Given the description of an element on the screen output the (x, y) to click on. 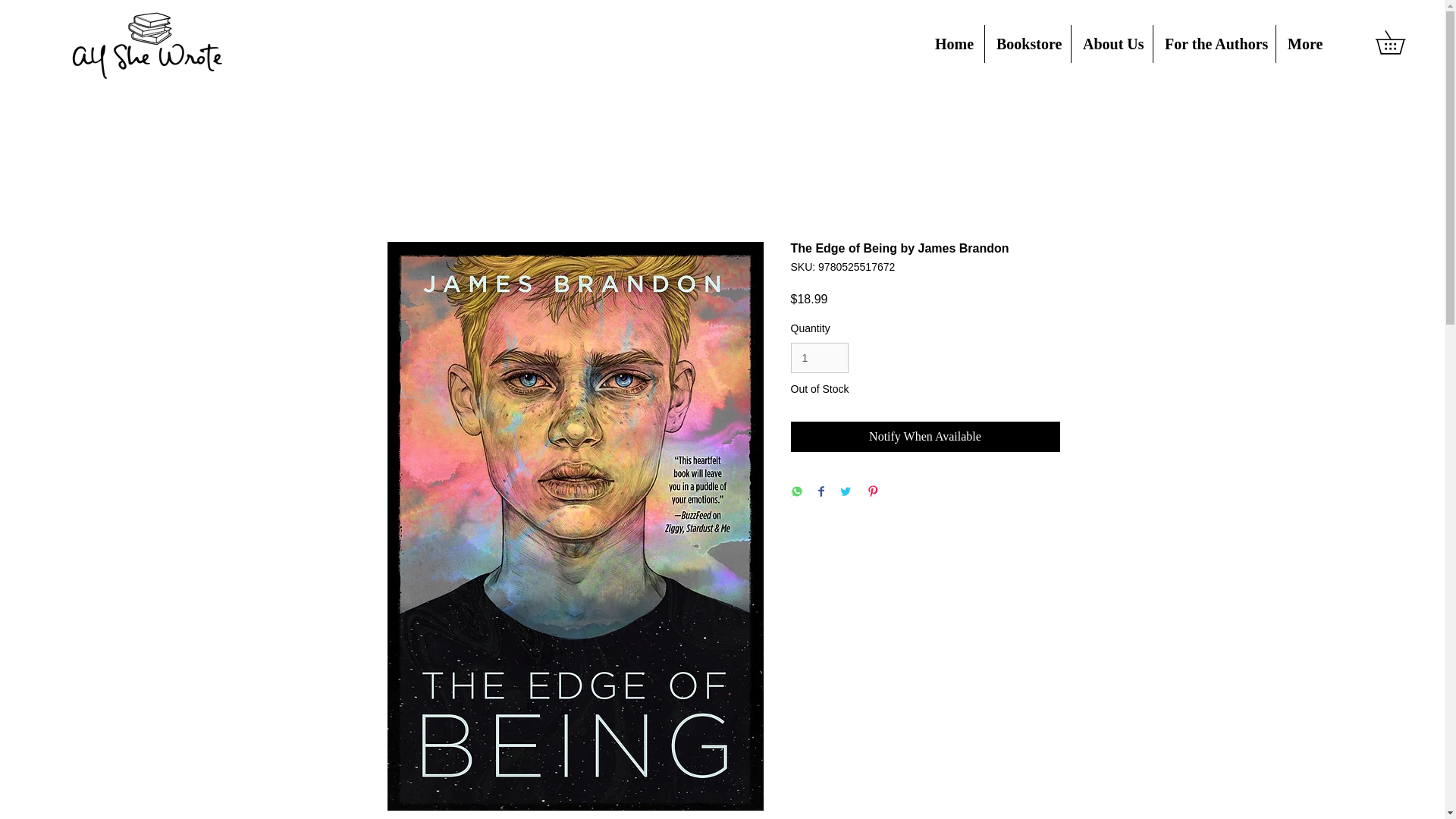
Notify When Available (924, 436)
1 (818, 358)
About Us (1112, 44)
For the Authors (1214, 44)
Bookstore (1027, 44)
Home (953, 44)
